Given the description of an element on the screen output the (x, y) to click on. 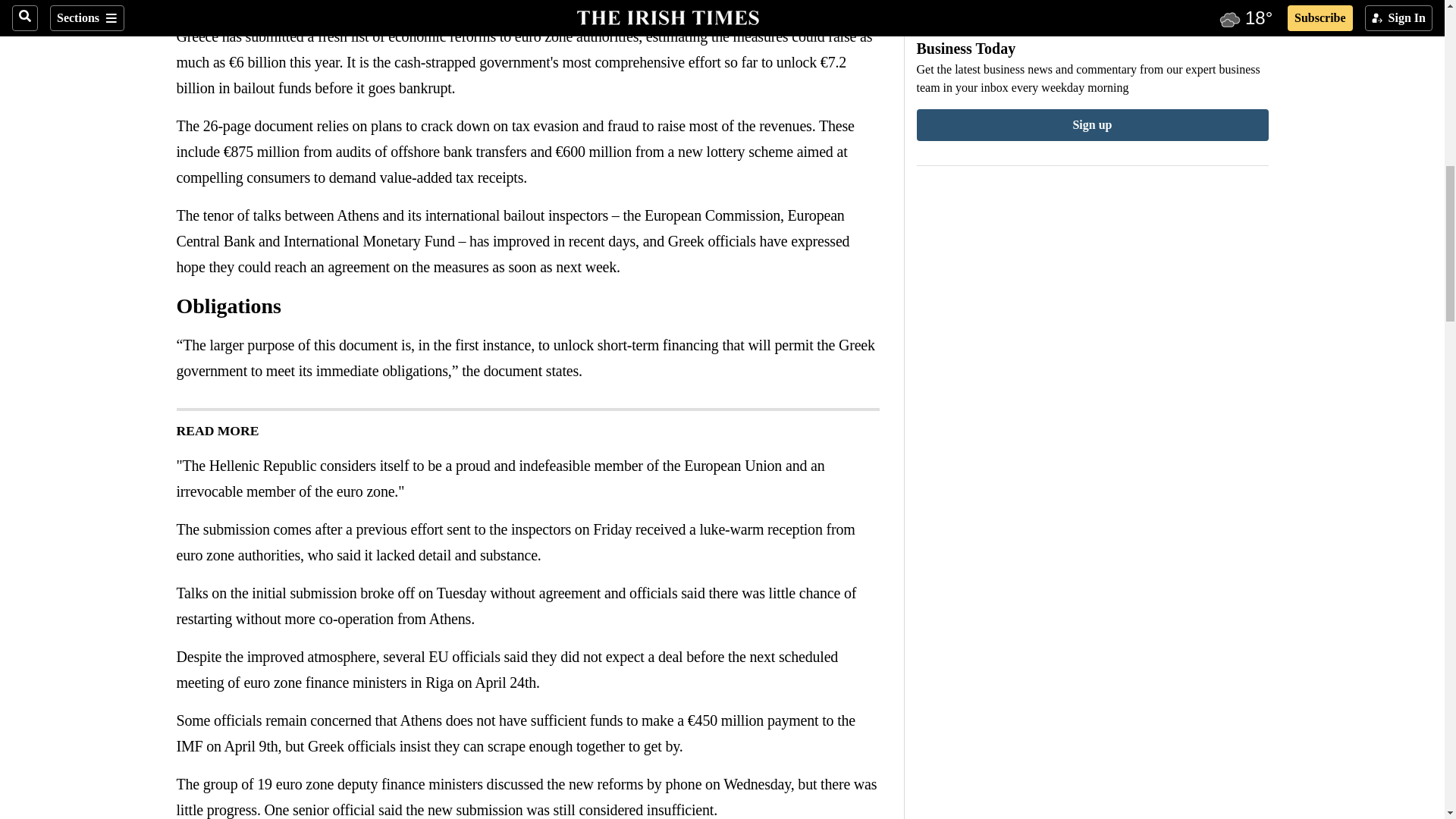
WhatsApp (244, 5)
Facebook (184, 5)
X (215, 5)
